Given the description of an element on the screen output the (x, y) to click on. 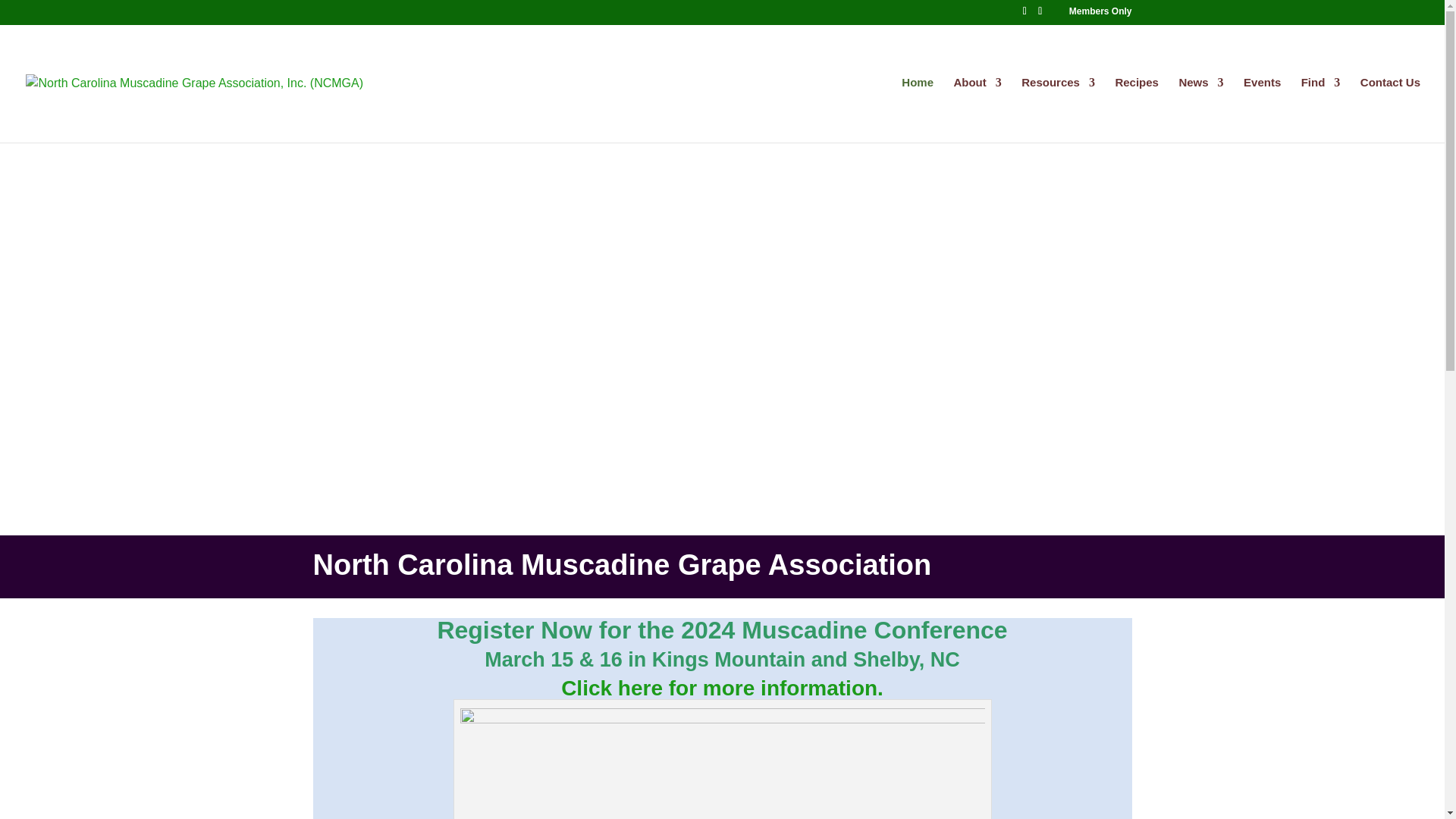
Click here for more information. (721, 688)
Contact Us (1390, 109)
Members Only (1100, 14)
Resources (1058, 109)
